Given the description of an element on the screen output the (x, y) to click on. 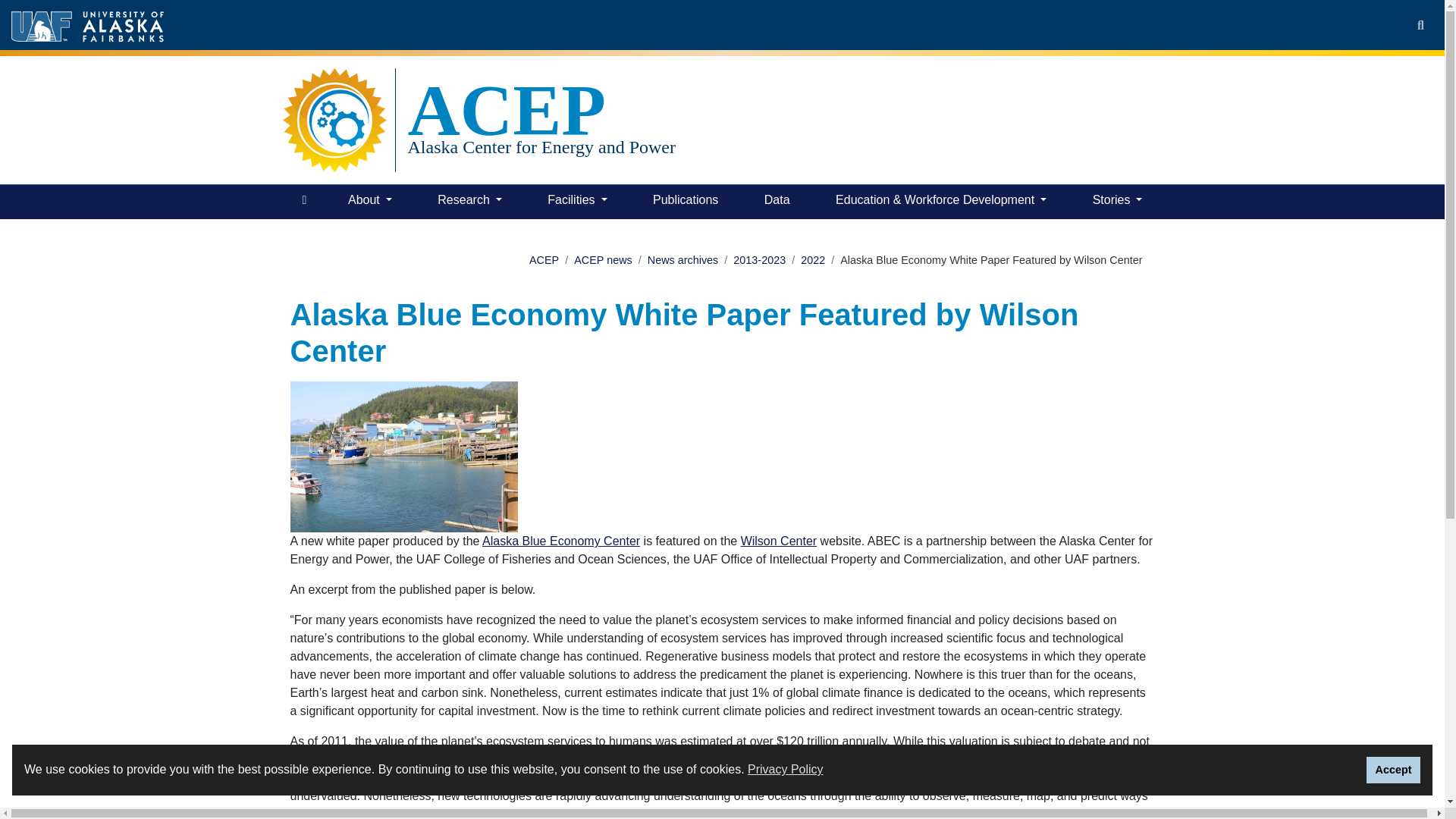
Accept (1394, 769)
Privacy Policy (786, 769)
Publications (684, 202)
Research (468, 202)
ACEP (541, 109)
About (369, 202)
Stories (1117, 202)
Facilities (576, 202)
Data (777, 202)
